Given the description of an element on the screen output the (x, y) to click on. 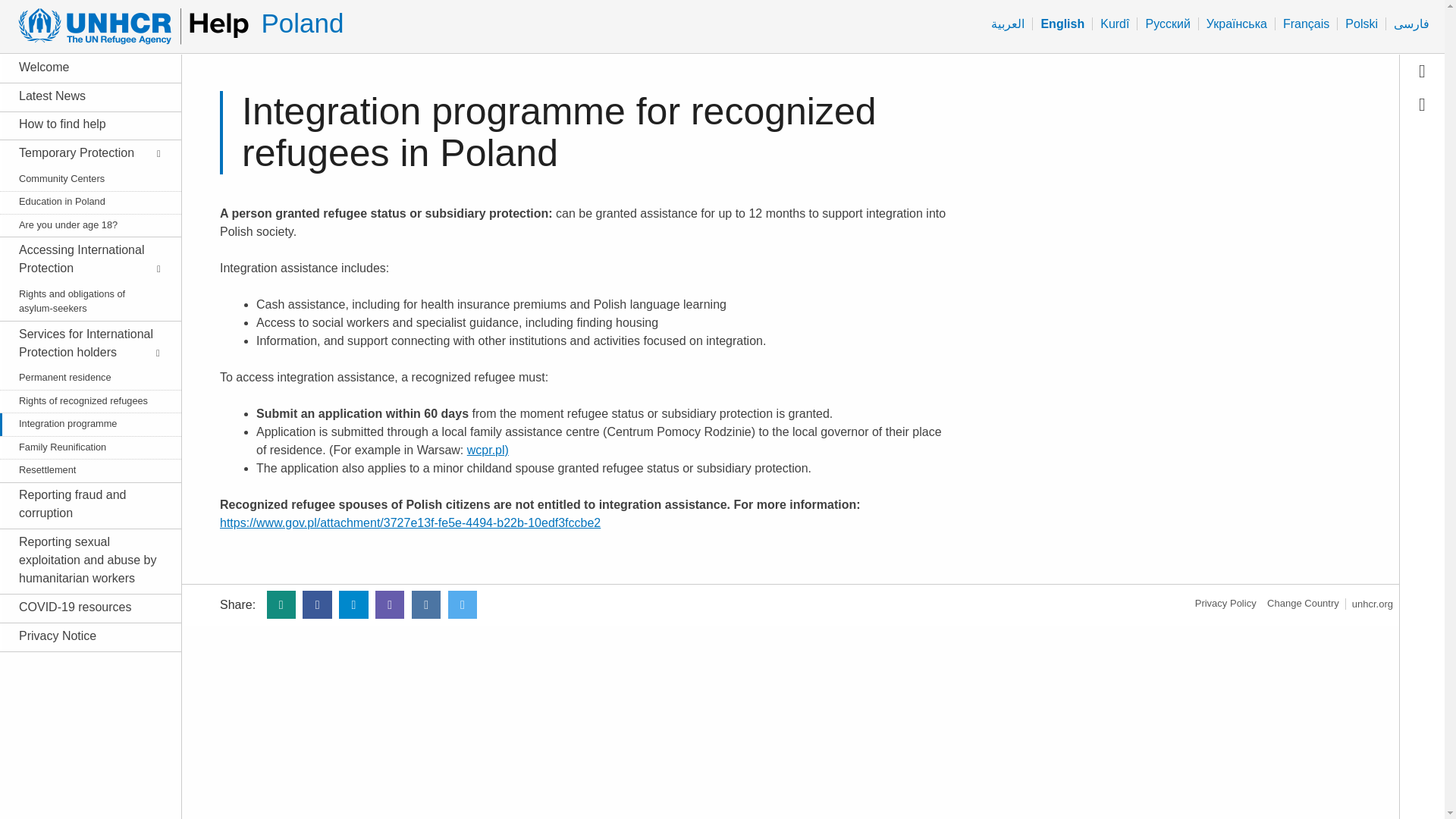
Poland (301, 22)
Community Centers (81, 178)
How to find help (81, 124)
Rights and obligations of asylum-seekers (81, 300)
Resettlement (81, 469)
Family Reunification (81, 446)
Farsi (1411, 24)
Are you under age 18? (81, 224)
Temporary Protection (81, 153)
COVID-19 resources (81, 607)
Reporting fraud and corruption (81, 504)
Russian (1166, 24)
Permanent residence (81, 377)
Welcome (81, 67)
